Given the description of an element on the screen output the (x, y) to click on. 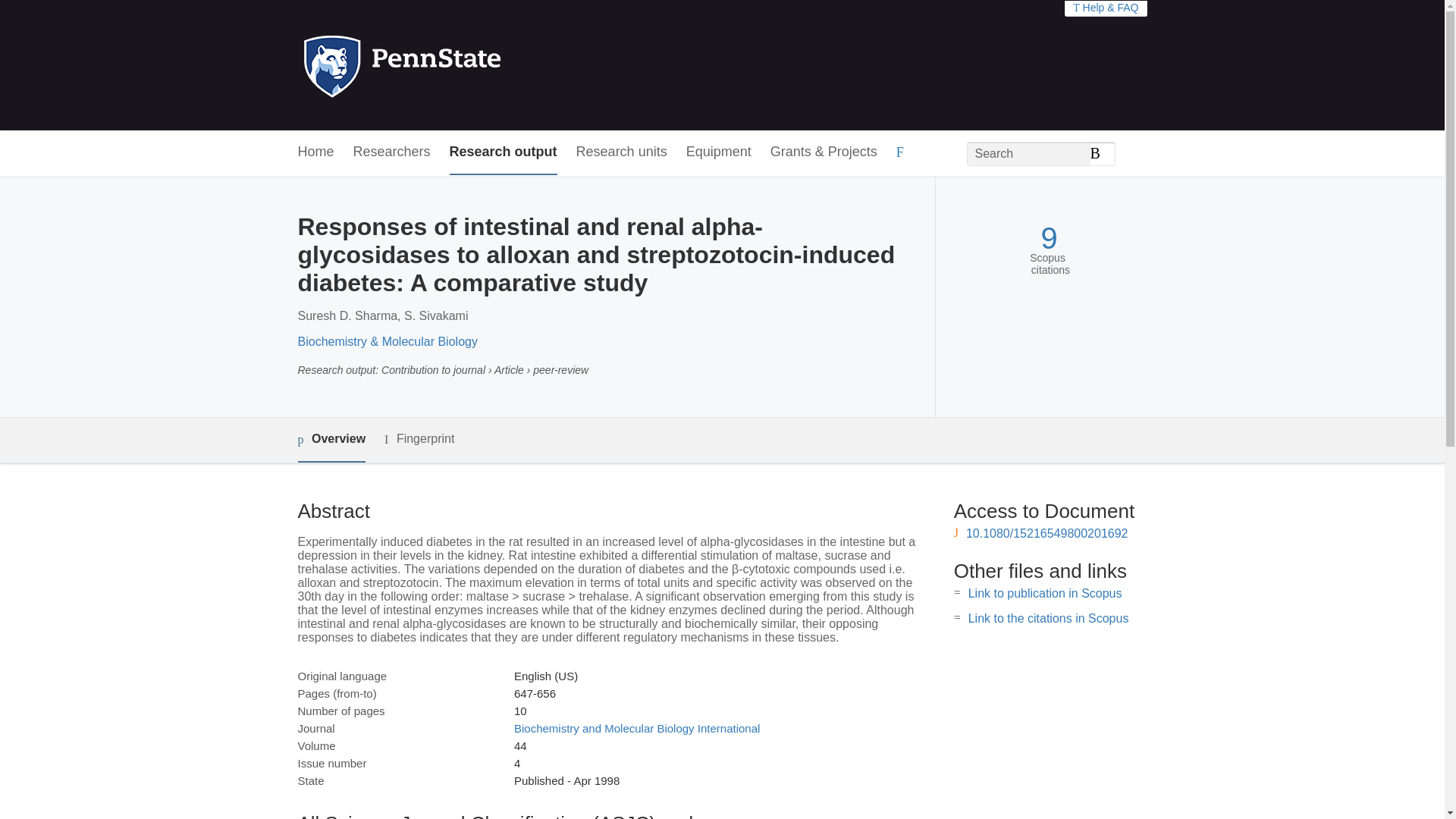
Research output (503, 152)
Equipment (718, 152)
Fingerprint (419, 439)
Biochemistry and Molecular Biology International (636, 727)
Researchers (391, 152)
Research units (621, 152)
Overview (331, 439)
Link to the citations in Scopus (1048, 617)
Link to publication in Scopus (1045, 593)
Penn State Home (467, 65)
